Given the description of an element on the screen output the (x, y) to click on. 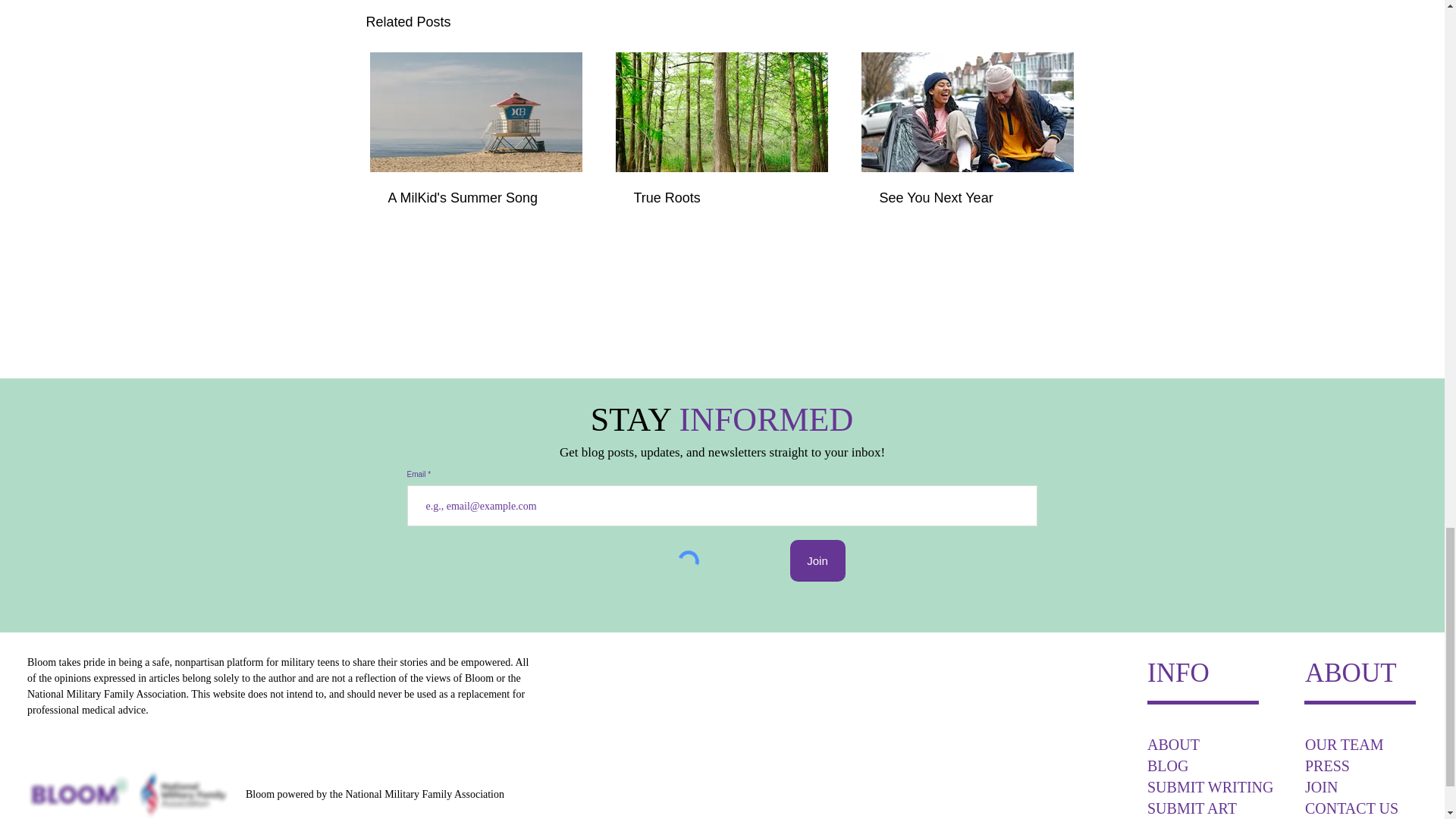
True Roots (721, 198)
A MilKid's Summer Song (476, 198)
